Given the description of an element on the screen output the (x, y) to click on. 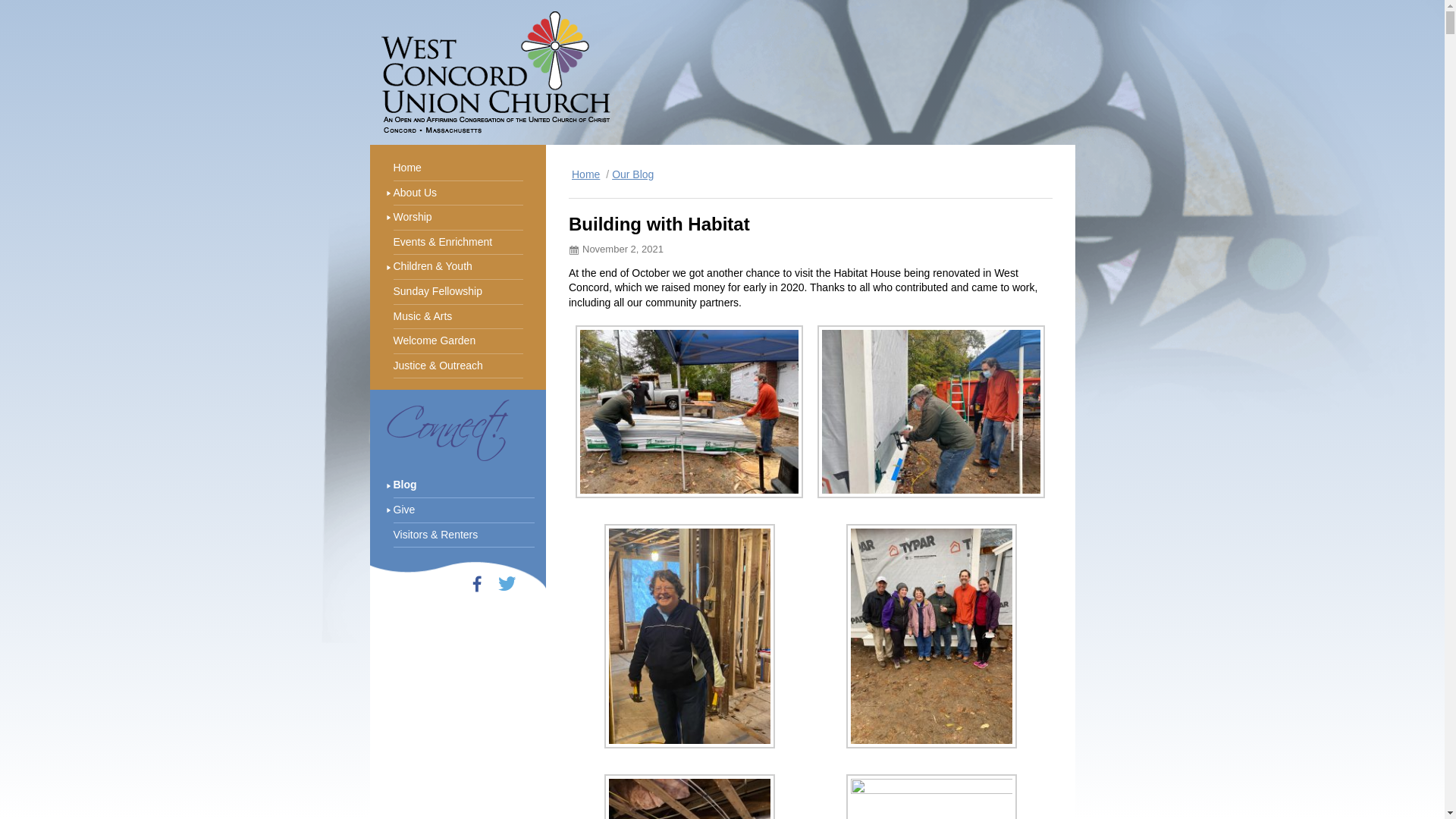
West Concord Union Church (495, 72)
Welcome Garden (457, 341)
Home (585, 174)
Building with Habitat (659, 223)
Our Blog (632, 174)
Home (457, 168)
Blog (463, 485)
Sunday Fellowship (457, 292)
Blog (463, 485)
Worship (457, 217)
